Given the description of an element on the screen output the (x, y) to click on. 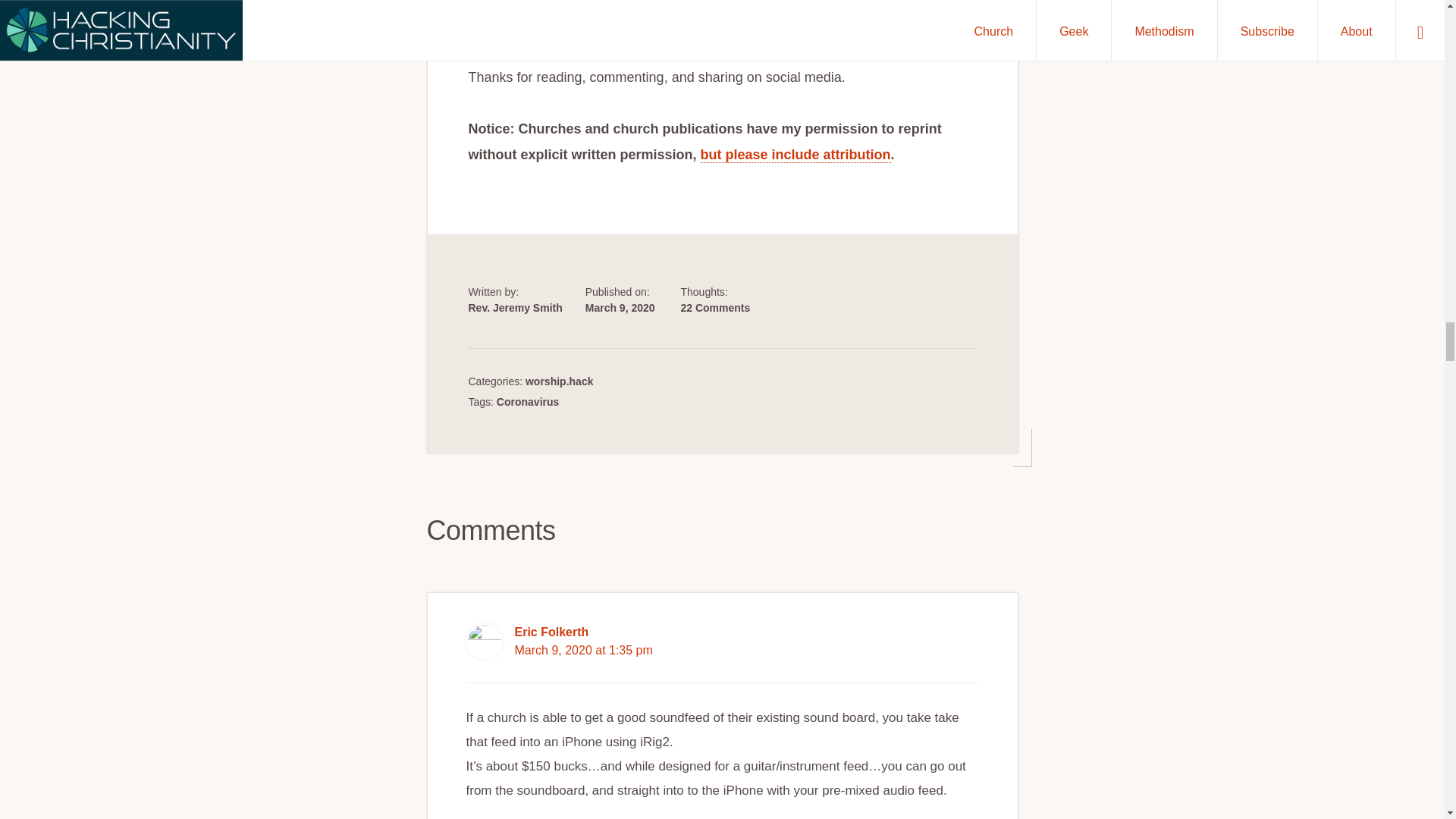
Coronavirus (527, 401)
Rev. Jeremy Smith (515, 307)
but please include attribution (795, 154)
March 9, 2020 at 1:35 pm (582, 650)
22 Comments (714, 307)
Eric Folkerth (550, 632)
worship.hack (558, 381)
